Given the description of an element on the screen output the (x, y) to click on. 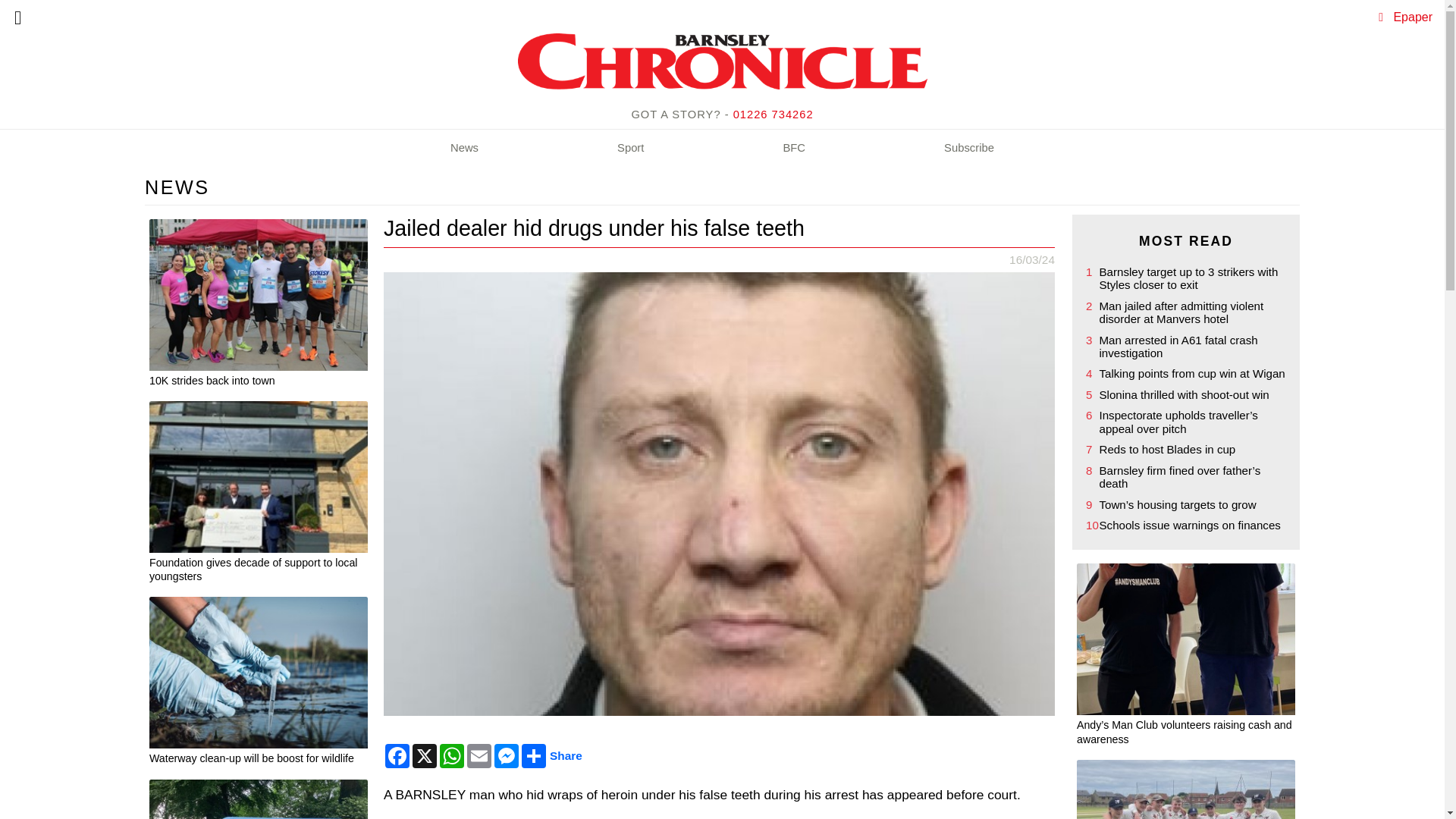
01226 734262 (773, 114)
Sport (630, 148)
News (464, 148)
Subscribe (968, 148)
10K strides back into town (258, 382)
BFC (793, 148)
Epaper (1412, 16)
